Given the description of an element on the screen output the (x, y) to click on. 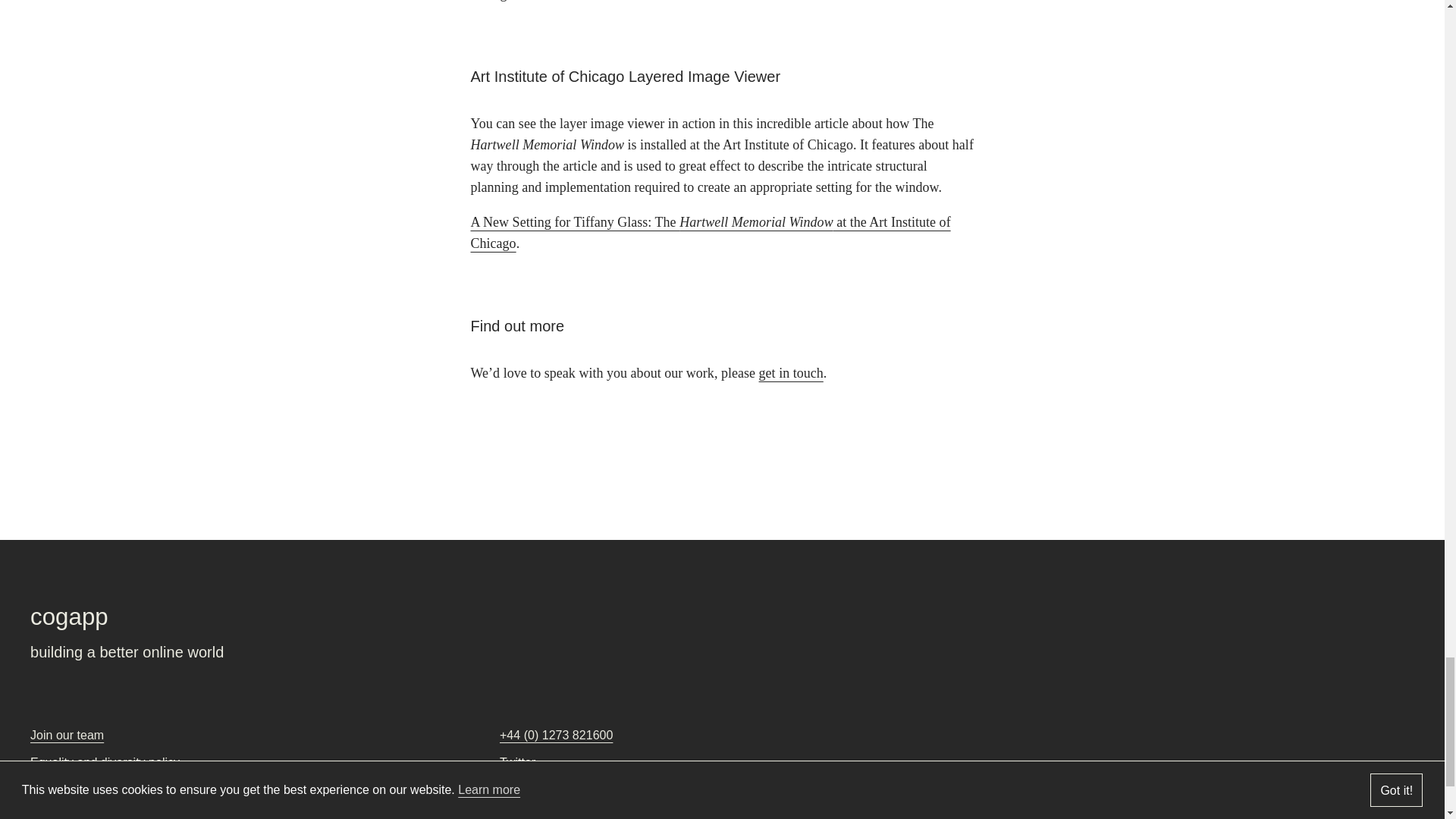
Environmental sustainability policy (122, 789)
Equality and diversity policy (104, 762)
Join our team (66, 735)
Privacy notice (68, 814)
Instagram (526, 814)
Twitter (517, 762)
LinkedIn (522, 789)
get in touch (791, 372)
